Given the description of an element on the screen output the (x, y) to click on. 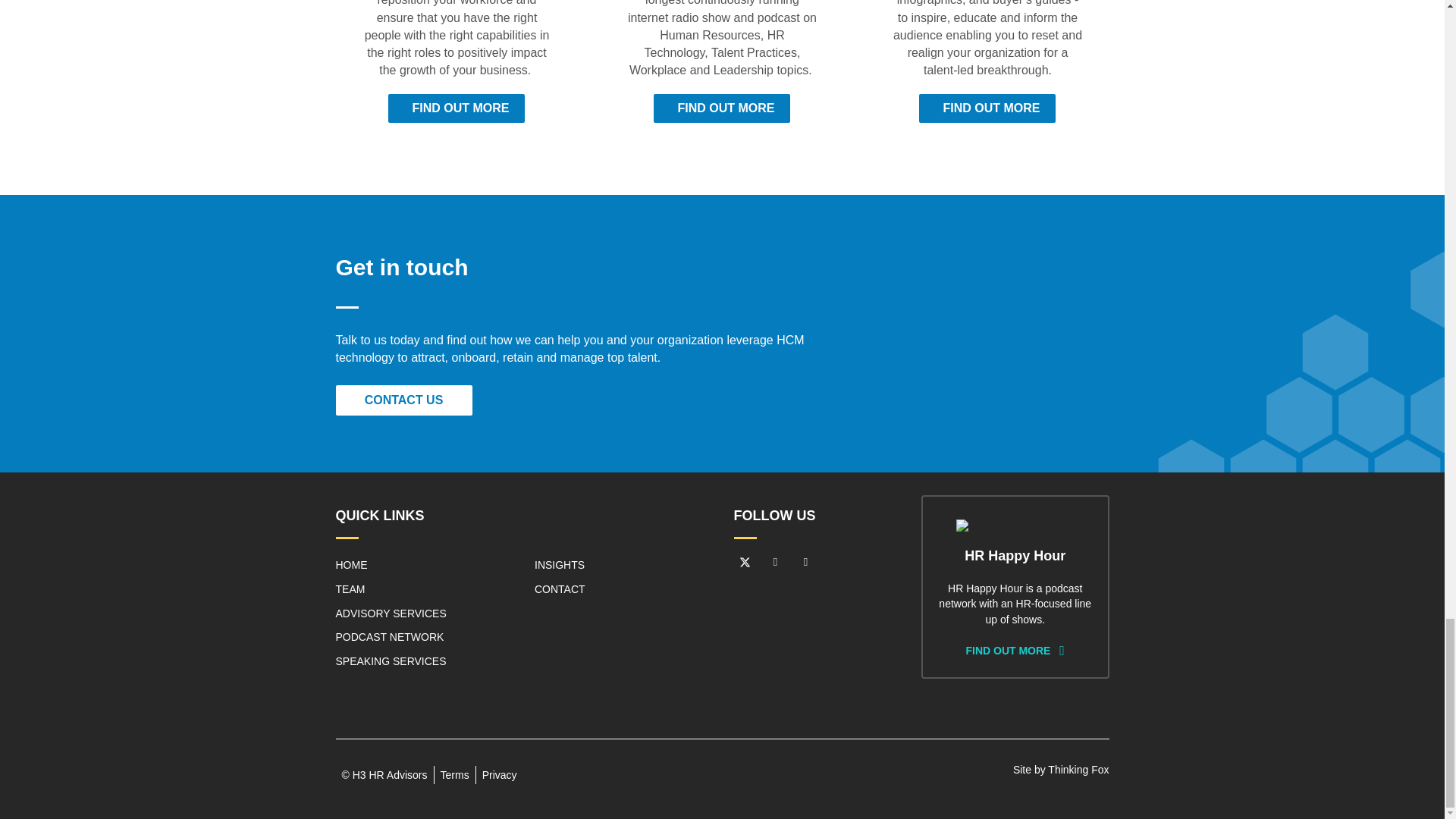
Instagram (805, 561)
LinkedIn (775, 561)
